Given the description of an element on the screen output the (x, y) to click on. 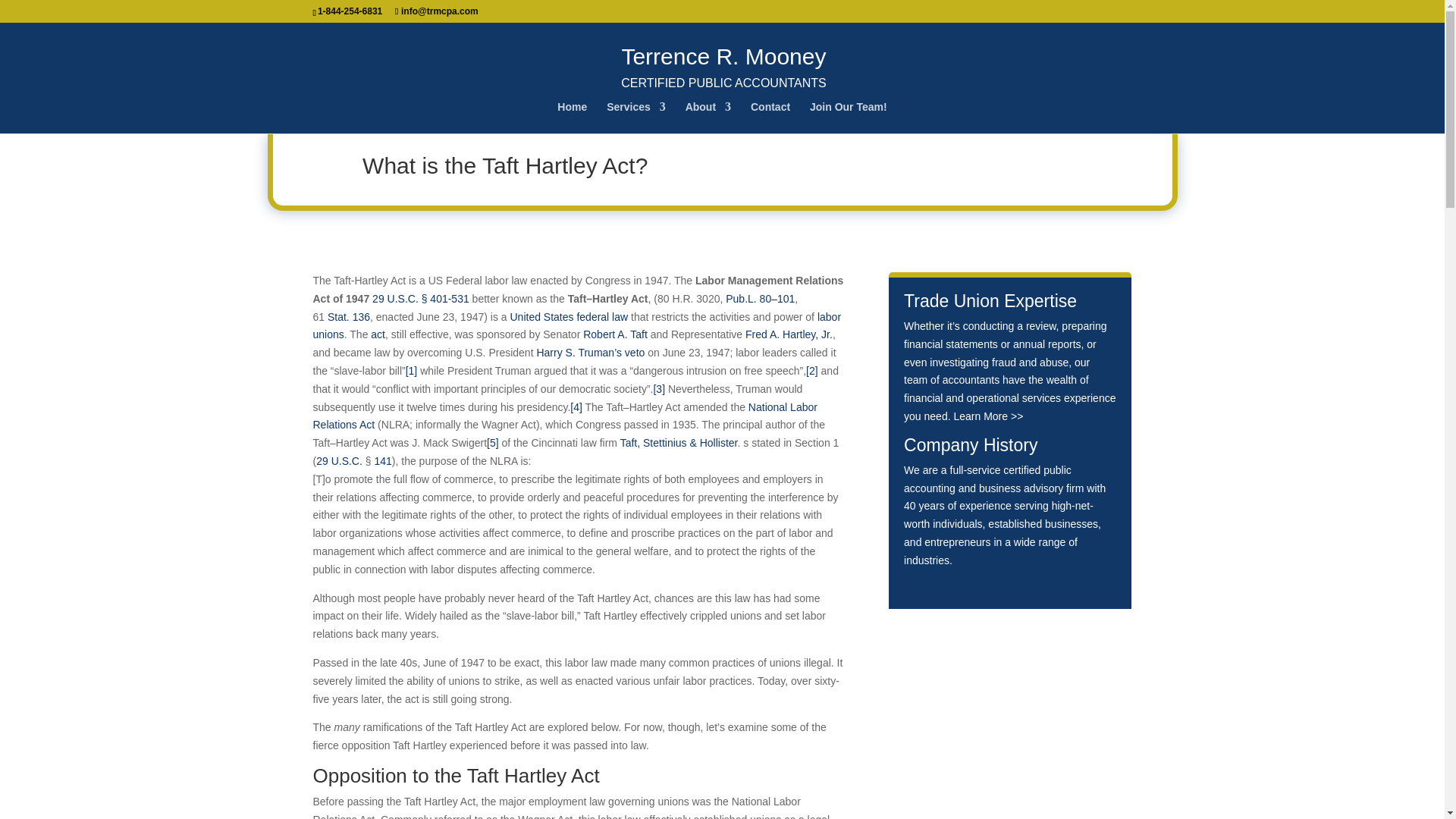
Fred A. Hartley, Jr. (788, 334)
Stat. 136 (348, 316)
Contact (770, 117)
29 U.S.C. (338, 460)
141 (382, 460)
Services (636, 117)
About (707, 117)
National Labor Relations Act (564, 416)
labor unions (577, 326)
United States federal law (568, 316)
act (378, 334)
Home (571, 117)
Join Our Team! (724, 60)
Robert A. Taft (847, 117)
